Given the description of an element on the screen output the (x, y) to click on. 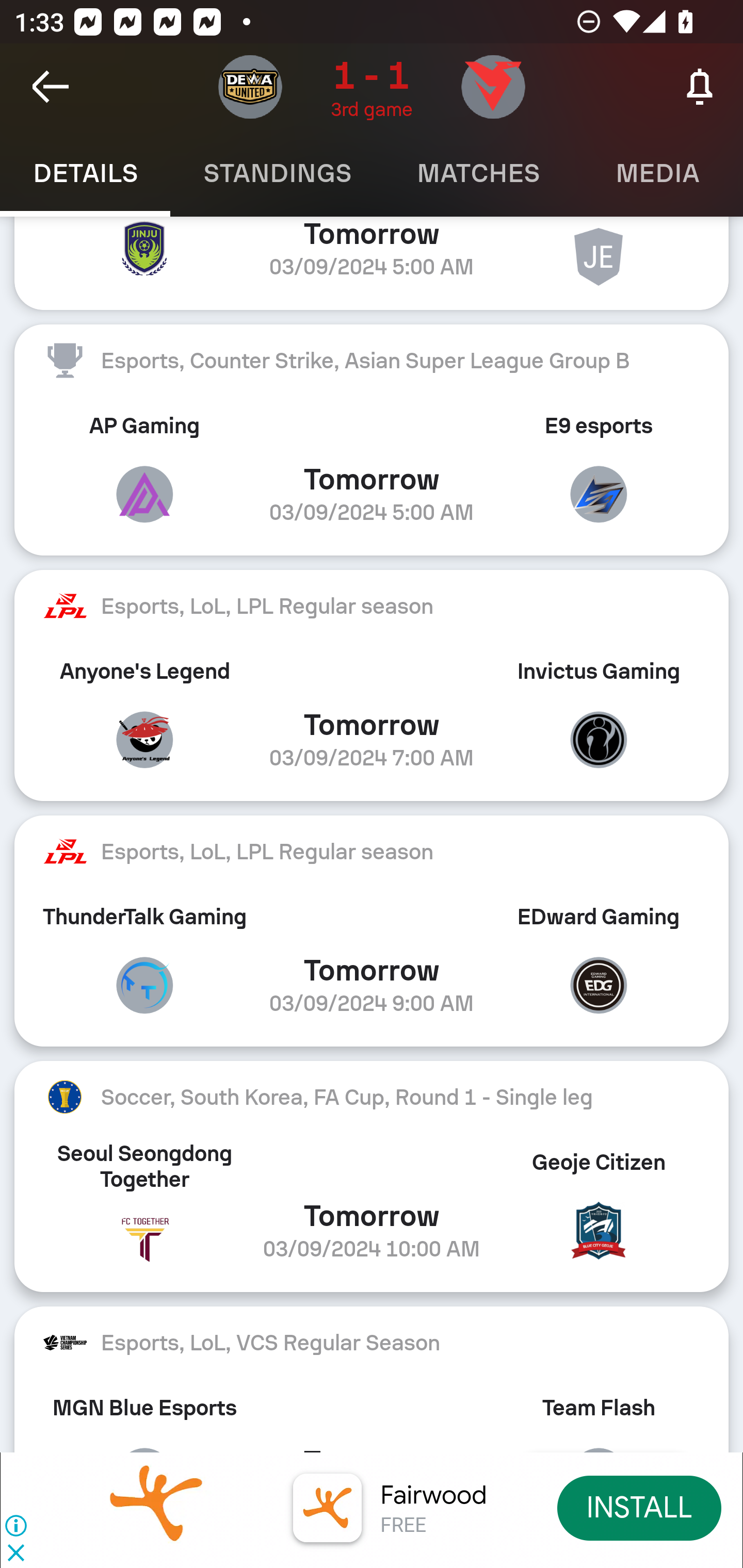
Navigate up (50, 86)
Standings STANDINGS (277, 173)
Matches MATCHES (478, 173)
Media MEDIA (657, 173)
Tomorrow 03/09/2024 5:00 AM (371, 263)
Esports, LoL, LPL Regular season (371, 605)
Esports, LoL, LPL Regular season (371, 851)
Soccer, South Korea, FA Cup, Round 1 - Single leg (371, 1097)
Esports, LoL, VCS Regular Season (371, 1342)
INSTALL (639, 1507)
Fairwood (433, 1494)
FREE (403, 1525)
